Given the description of an element on the screen output the (x, y) to click on. 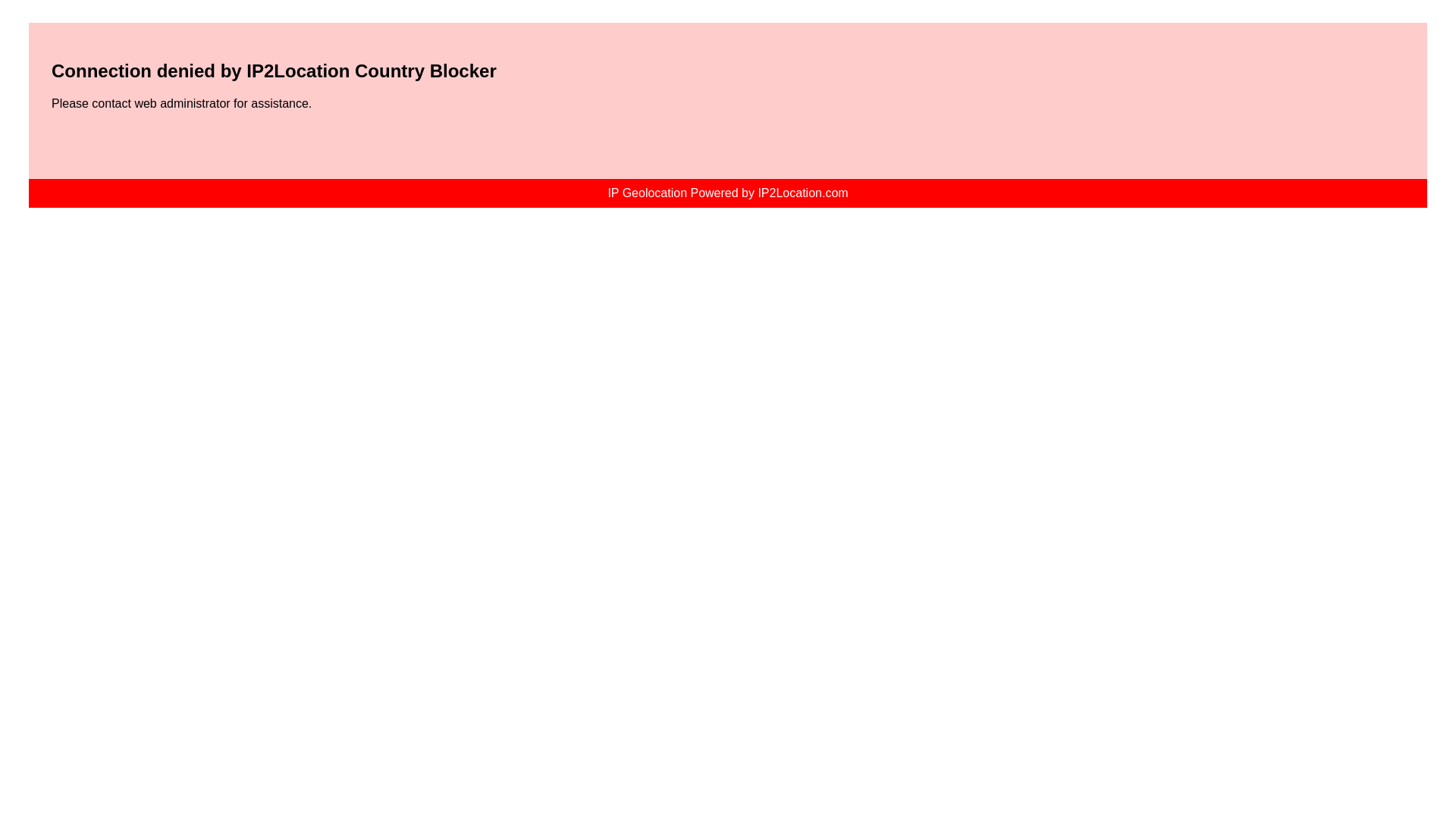
IP Geolocation Powered by IP2Location.com (727, 192)
